Given the description of an element on the screen output the (x, y) to click on. 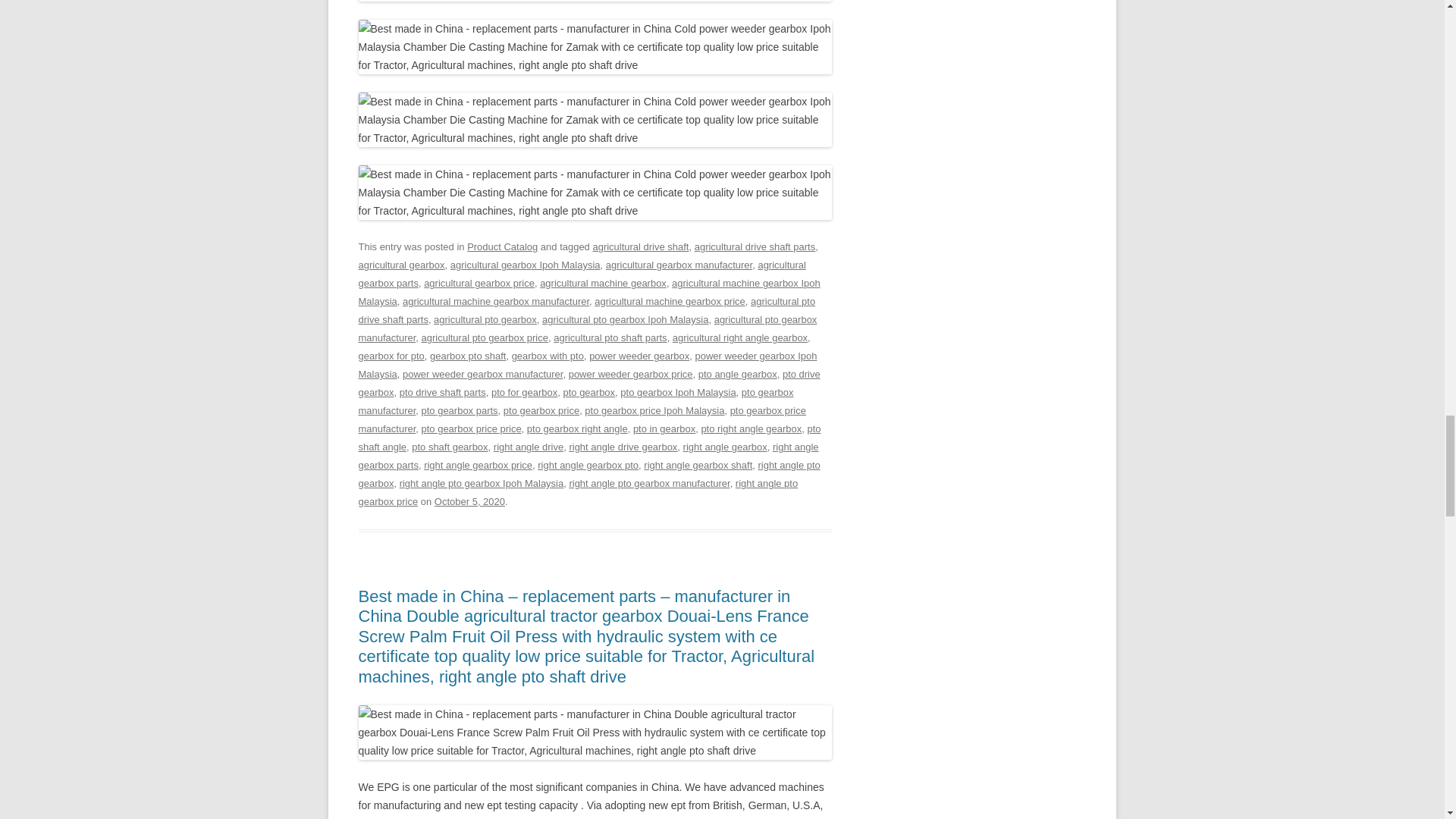
power weeder gearbox manufacturer (482, 374)
pto drive gearbox (588, 383)
gearbox with pto (547, 355)
pto gearbox (588, 392)
agricultural gearbox manufacturer (678, 265)
agricultural drive shaft (640, 246)
agricultural pto gearbox price (485, 337)
agricultural pto shaft parts (609, 337)
agricultural gearbox price (478, 283)
agricultural pto drive shaft parts (586, 310)
agricultural machine gearbox price (669, 301)
agricultural machine gearbox (603, 283)
pto drive shaft parts (442, 392)
agricultural drive shaft parts (754, 246)
agricultural machine gearbox manufacturer (496, 301)
